Given the description of an element on the screen output the (x, y) to click on. 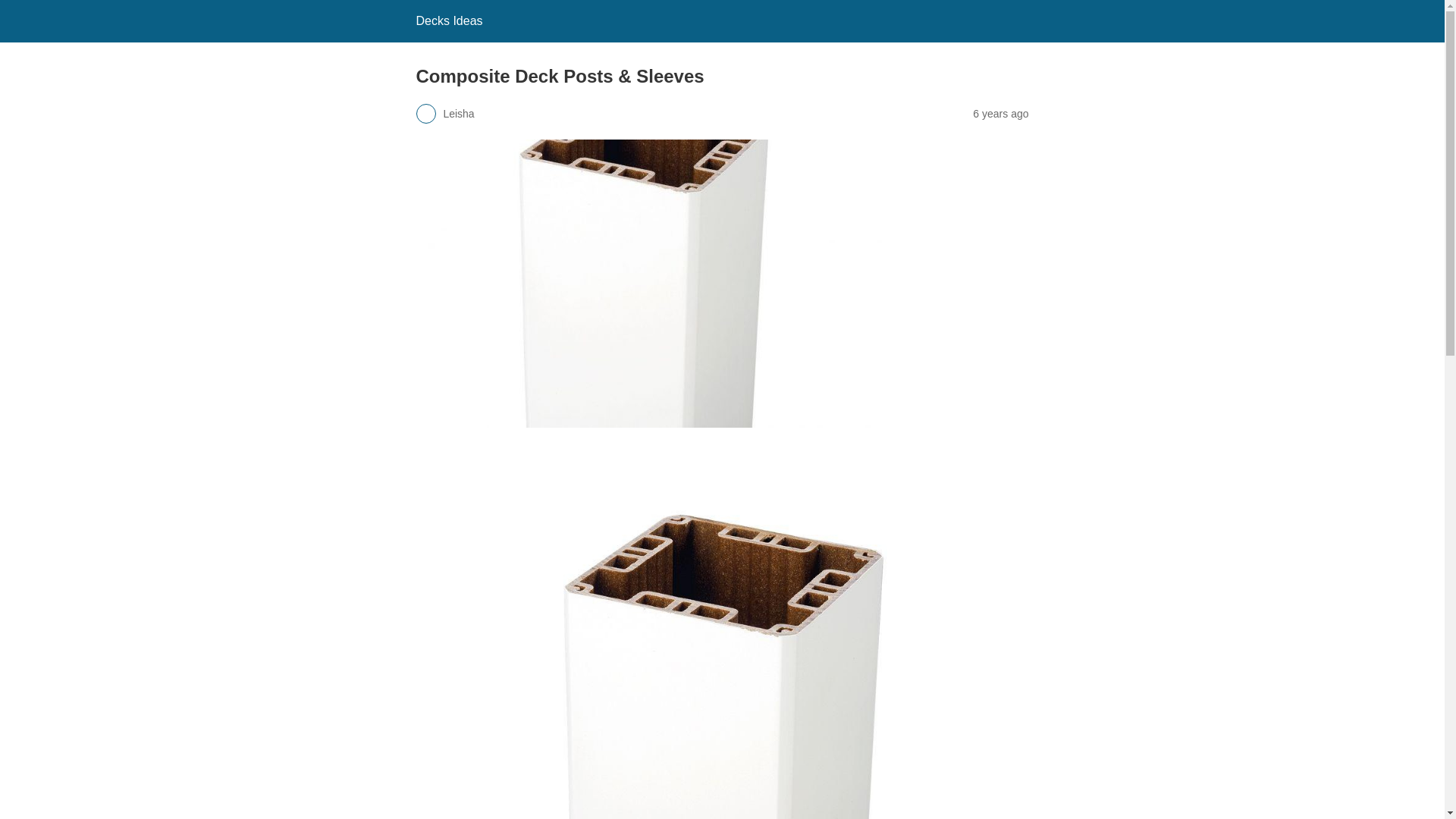
Decks Ideas (447, 20)
